Given the description of an element on the screen output the (x, y) to click on. 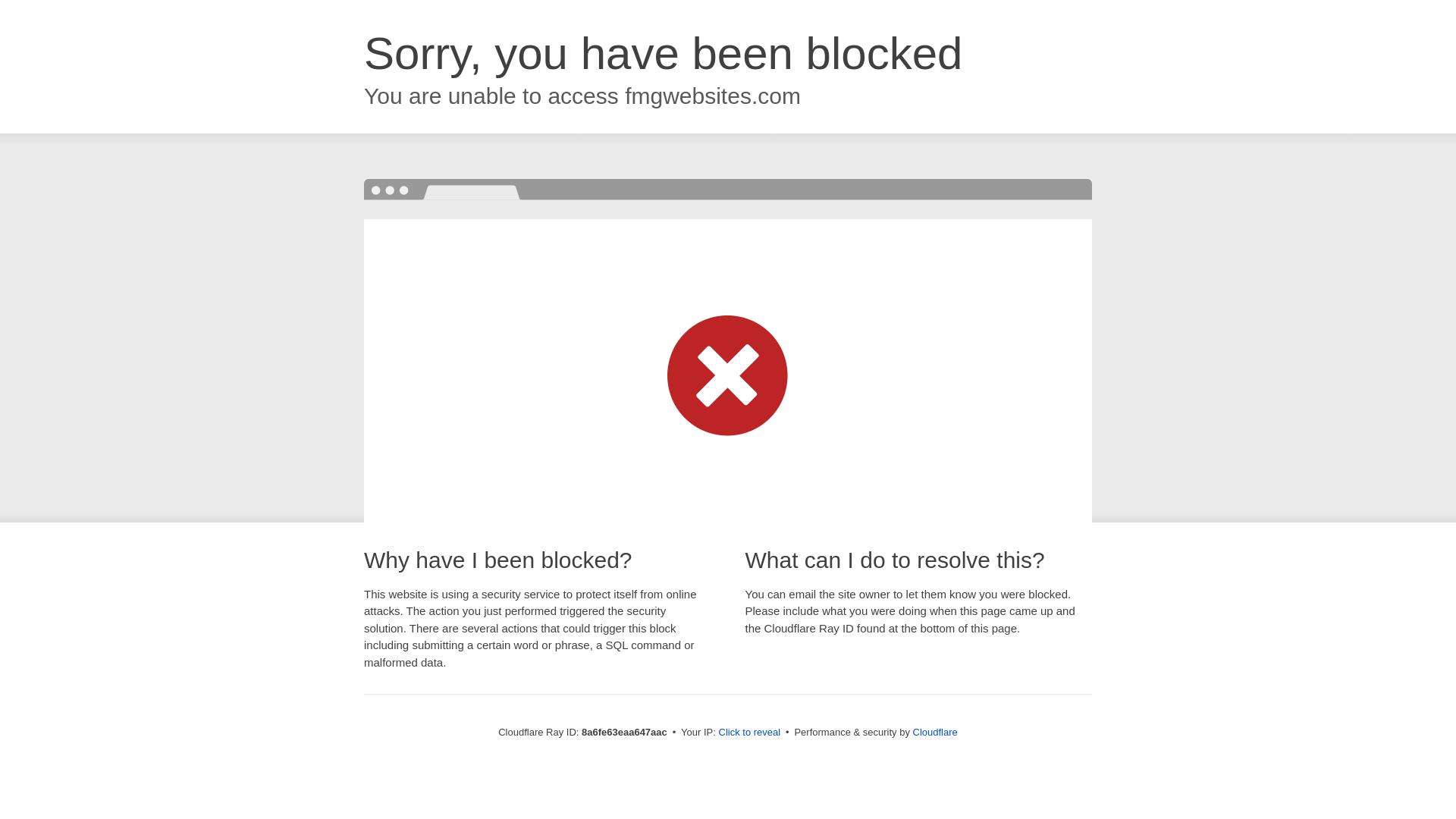
Click to reveal (749, 732)
Cloudflare (935, 731)
